Given the description of an element on the screen output the (x, y) to click on. 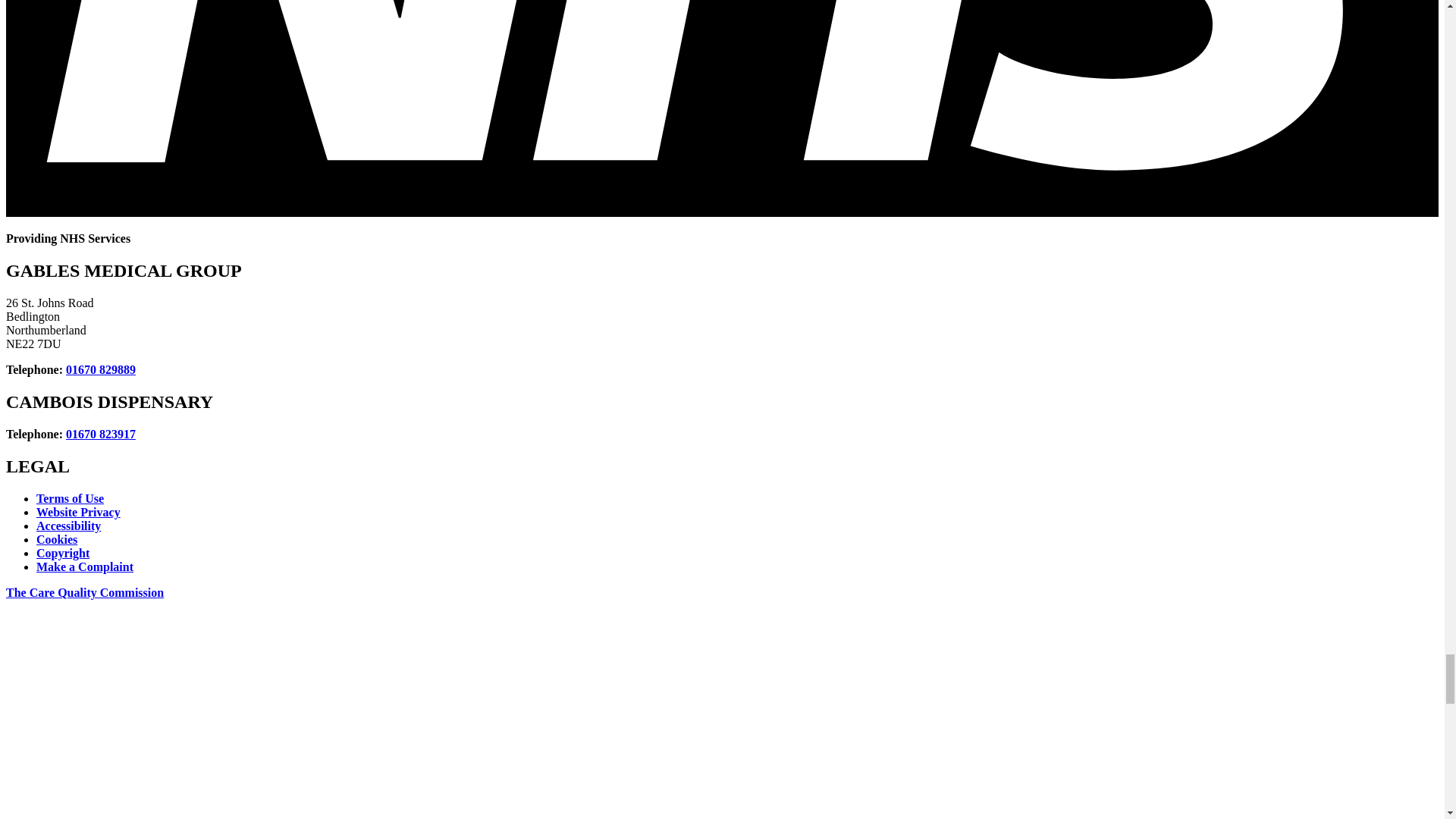
01670 823917 (100, 433)
Copyright (62, 553)
Website Privacy (78, 512)
Cookies (56, 539)
Terms of Use (69, 498)
Make a Complaint (84, 566)
01670 829889 (100, 369)
Accessibility (68, 525)
